Given the description of an element on the screen output the (x, y) to click on. 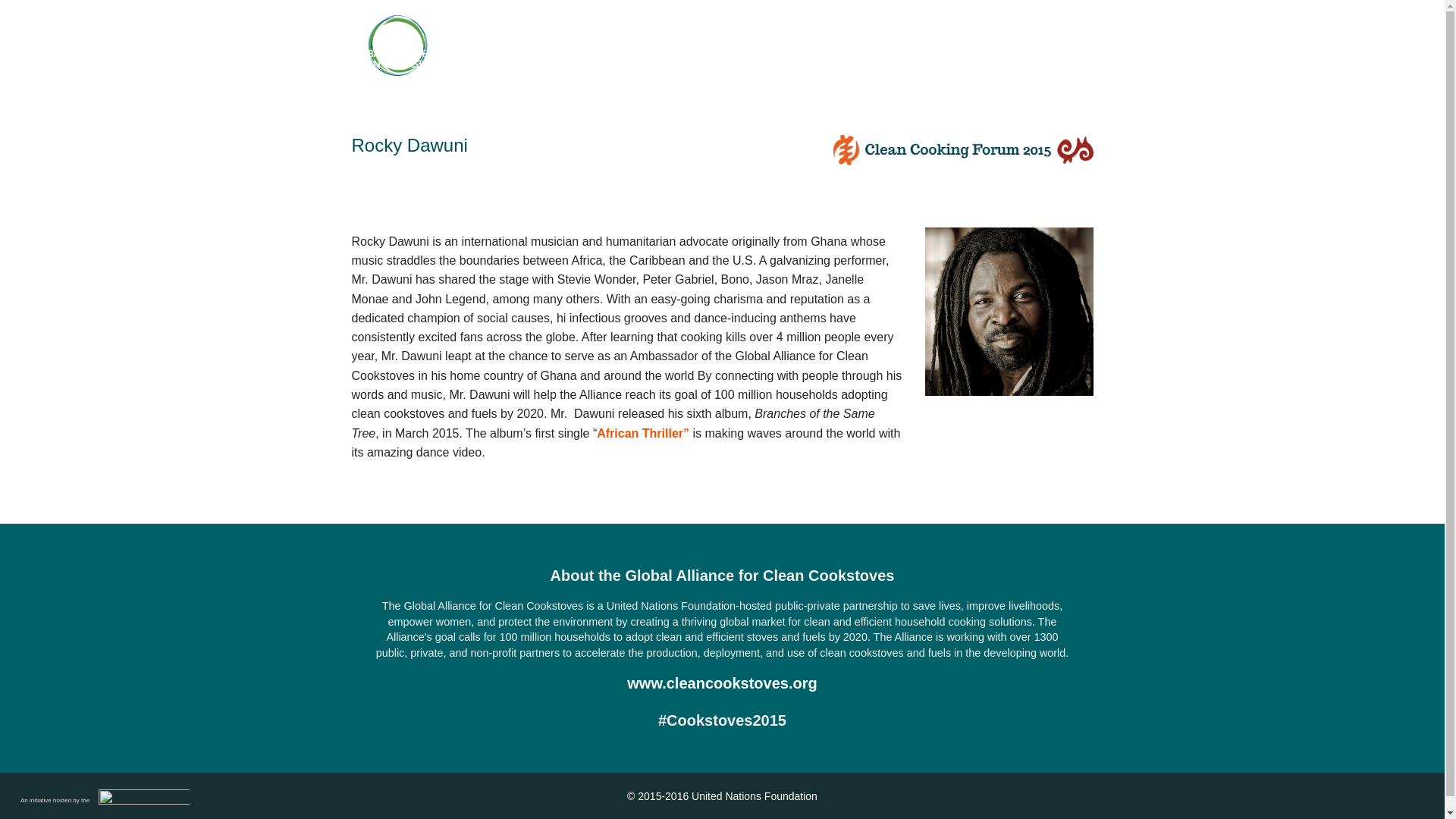
SPEAKERS (760, 65)
SPONSORS (849, 65)
www.cleancookstoves.org (721, 682)
ABOUT (597, 65)
HOME (536, 65)
BLOG (921, 65)
CONTACT (1056, 65)
Clean Cooking Forum 2015 (397, 45)
TRAVEL (984, 65)
SCHEDULE (672, 65)
